Given the description of an element on the screen output the (x, y) to click on. 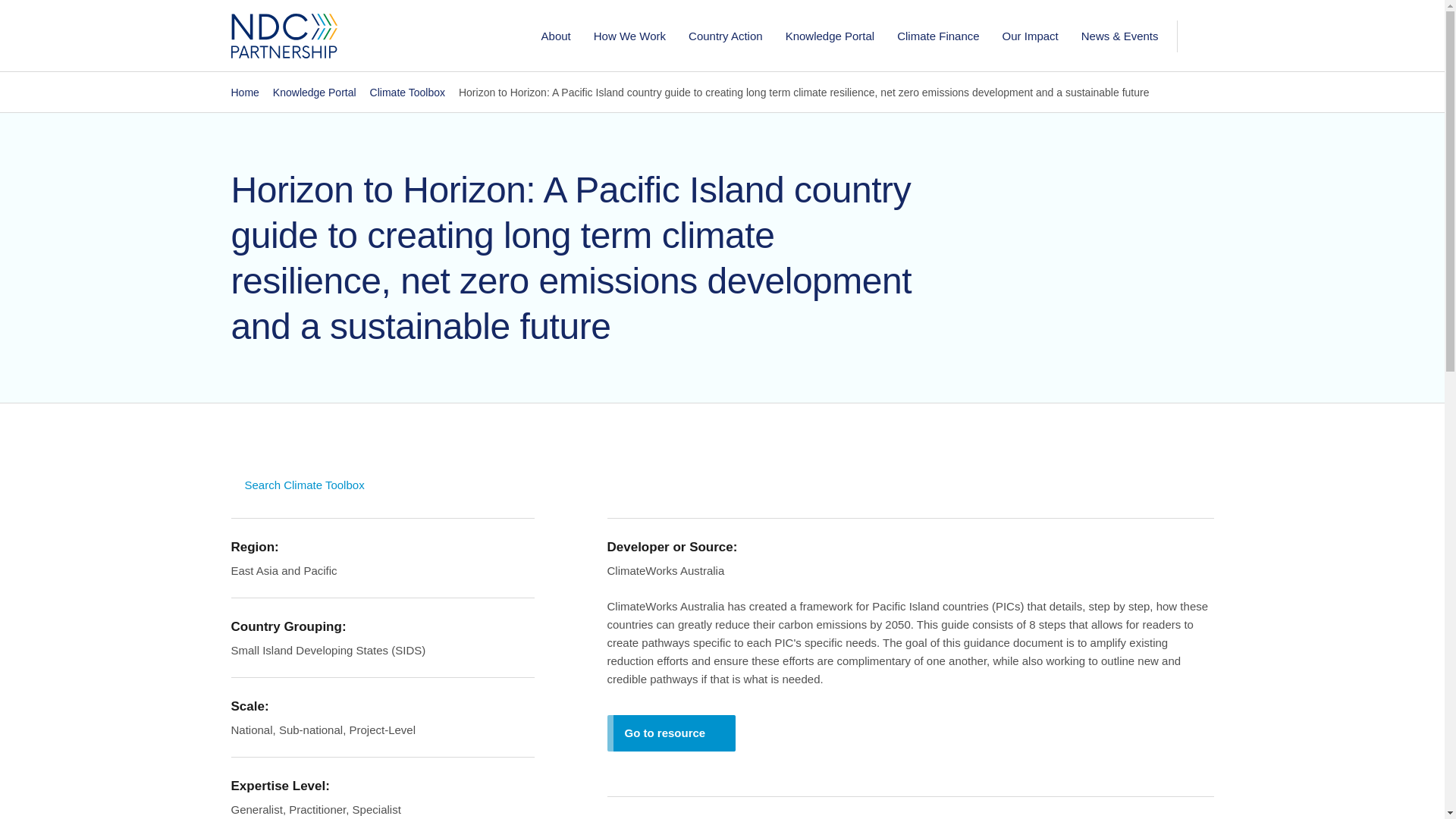
About (556, 35)
How We Work (629, 35)
Climate Toolbox (407, 92)
Search (1169, 109)
Knowledge Portal (314, 92)
Climate Finance (938, 35)
Home (244, 92)
Country Action (725, 35)
Knowledge Portal (829, 35)
